Given the description of an element on the screen output the (x, y) to click on. 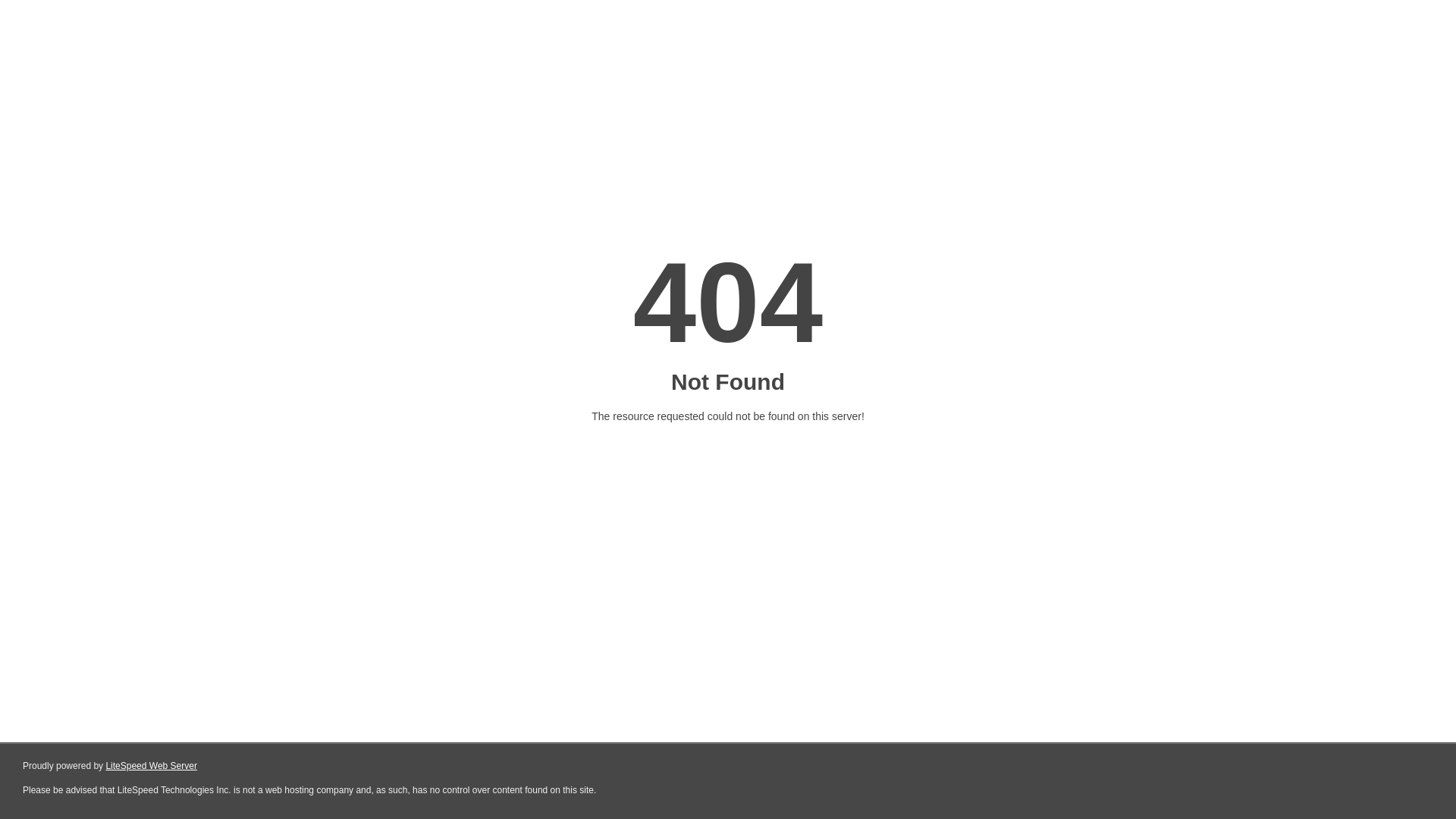
LiteSpeed Web Server Element type: text (151, 765)
